Given the description of an element on the screen output the (x, y) to click on. 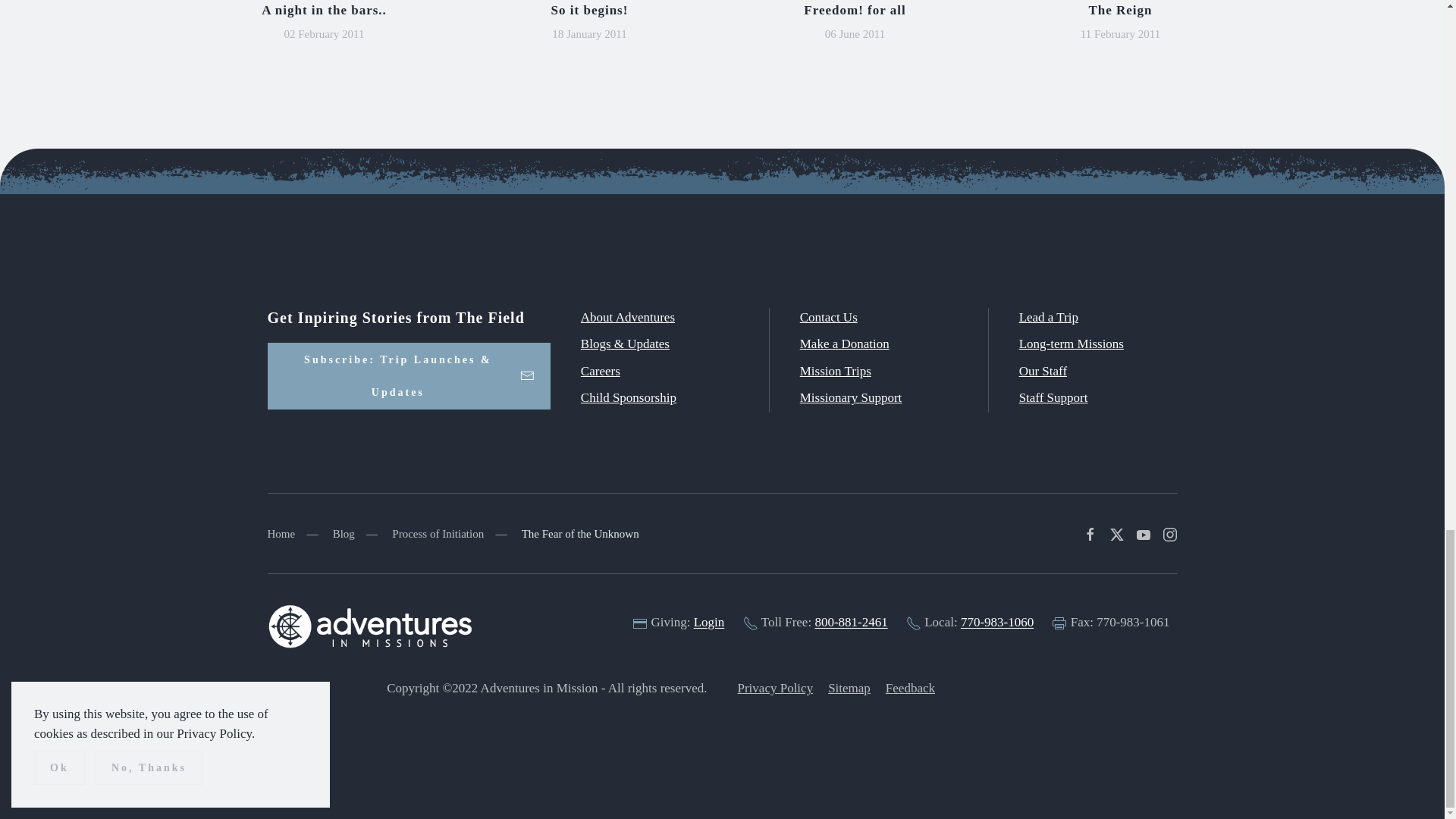
The Reign (1119, 10)
Freedom! for all (854, 10)
Child Sponsorship (628, 397)
So it begins! (589, 10)
A night in the bars.. (324, 10)
Contact Us (828, 317)
Careers (600, 370)
About Adventures (627, 317)
